Given the description of an element on the screen output the (x, y) to click on. 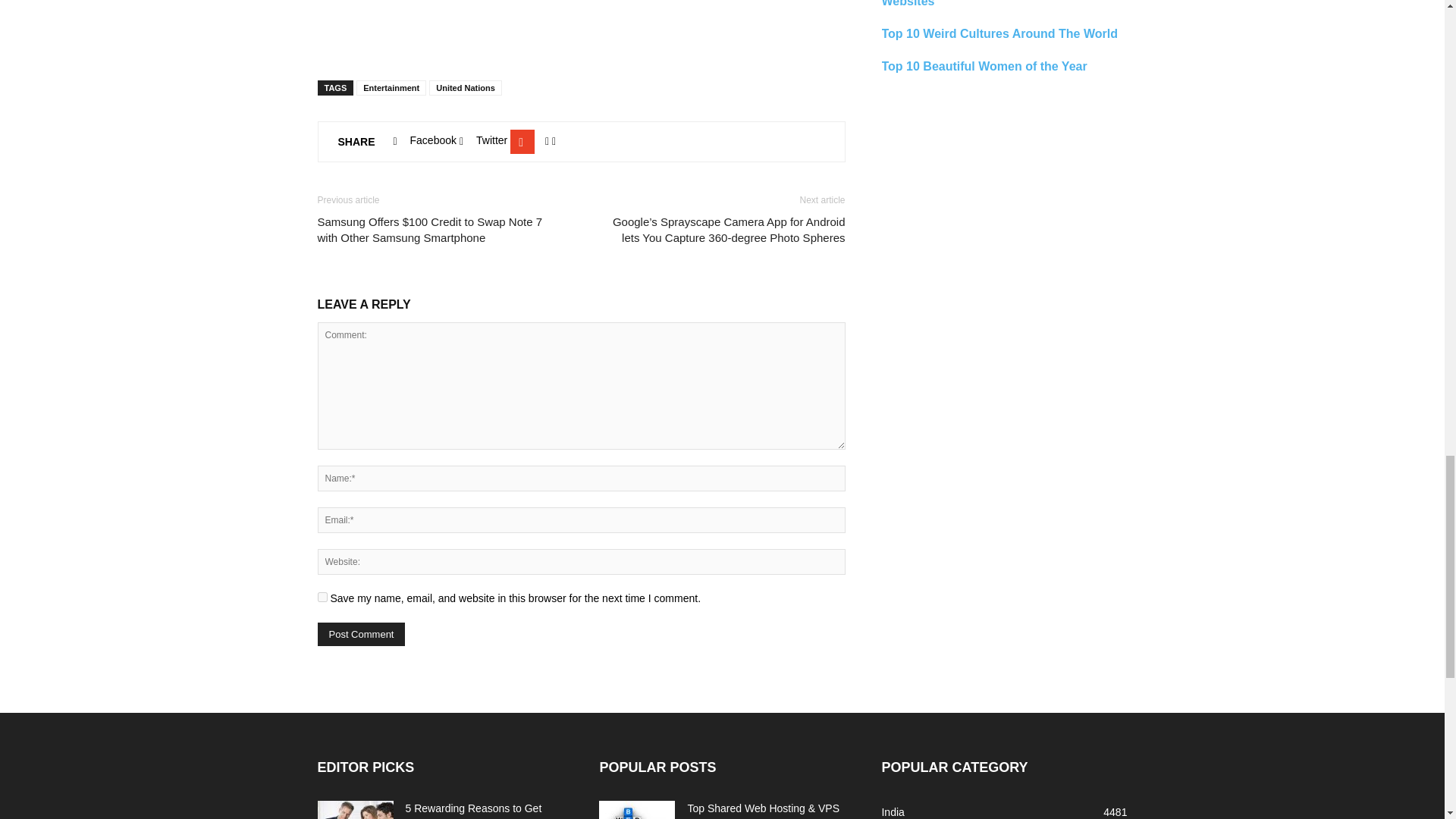
Whistle Feed Ads (580, 22)
Post Comment (360, 634)
yes (321, 596)
